Given the description of an element on the screen output the (x, y) to click on. 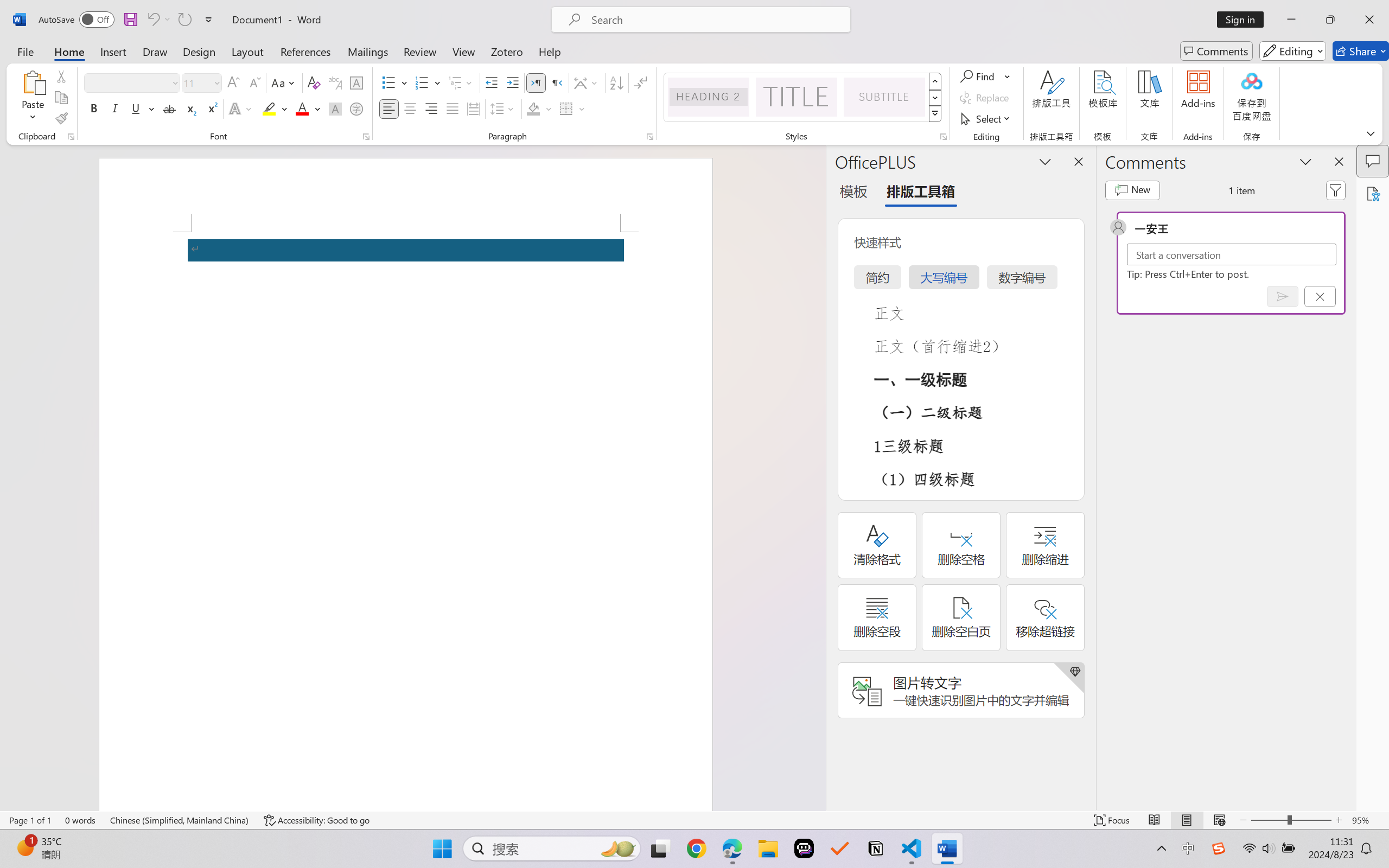
New comment (1132, 190)
Title (796, 96)
Editing (1292, 50)
